Given the description of an element on the screen output the (x, y) to click on. 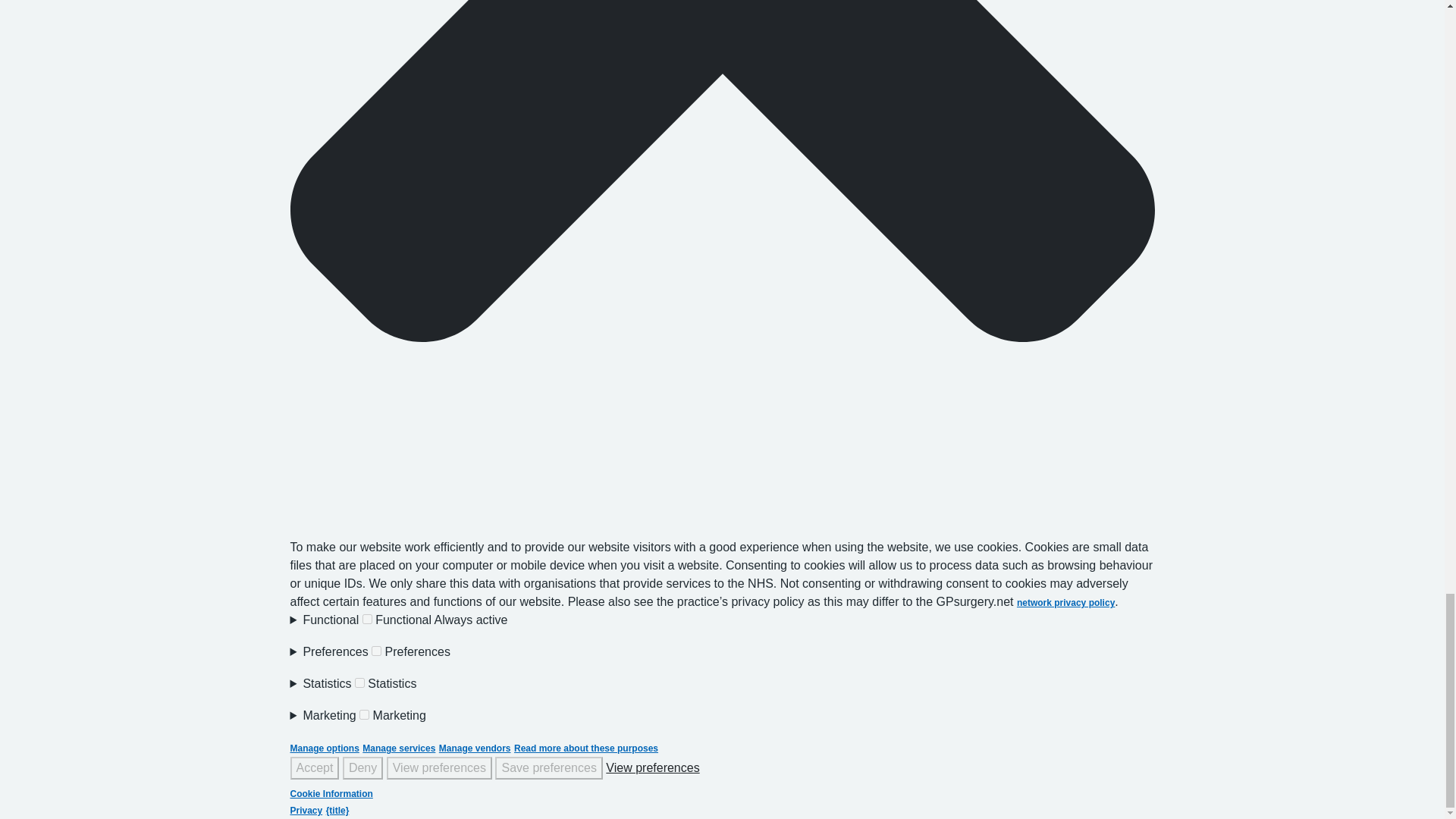
1 (364, 714)
1 (367, 619)
1 (376, 651)
network privacy policy (1065, 602)
1 (360, 682)
